Given the description of an element on the screen output the (x, y) to click on. 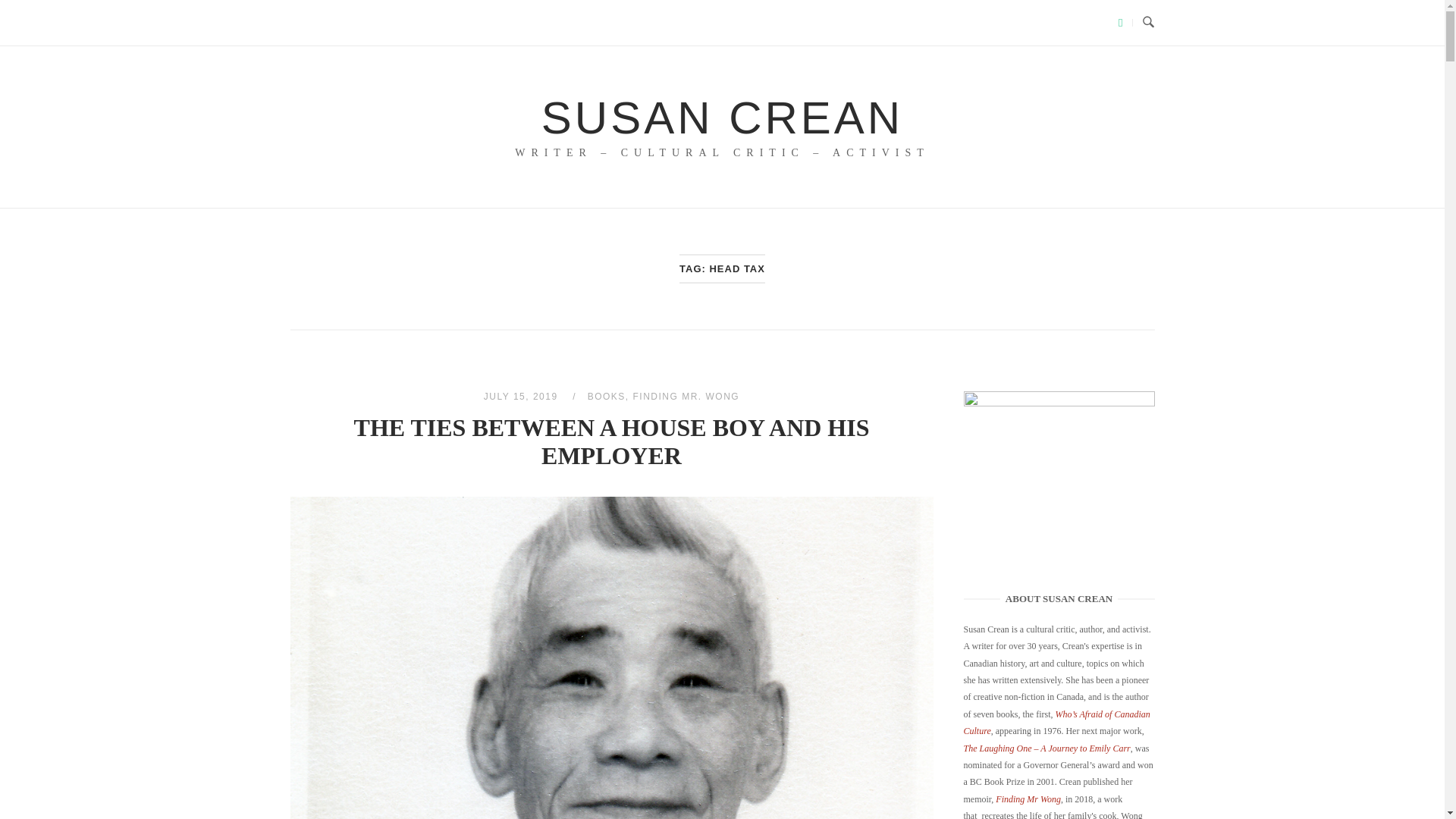
Susan Crean Writer Historian Activist profile (1058, 486)
JULY 15, 2019 (522, 396)
SUSAN CREAN (721, 117)
THE TIES BETWEEN A HOUSE BOY AND HIS EMPLOYER (611, 441)
THE TIES BETWEEN A HOUSE BOY AND HIS EMPLOYER (522, 396)
BOOKS (607, 396)
FINDING MR. WONG (685, 396)
